Given the description of an element on the screen output the (x, y) to click on. 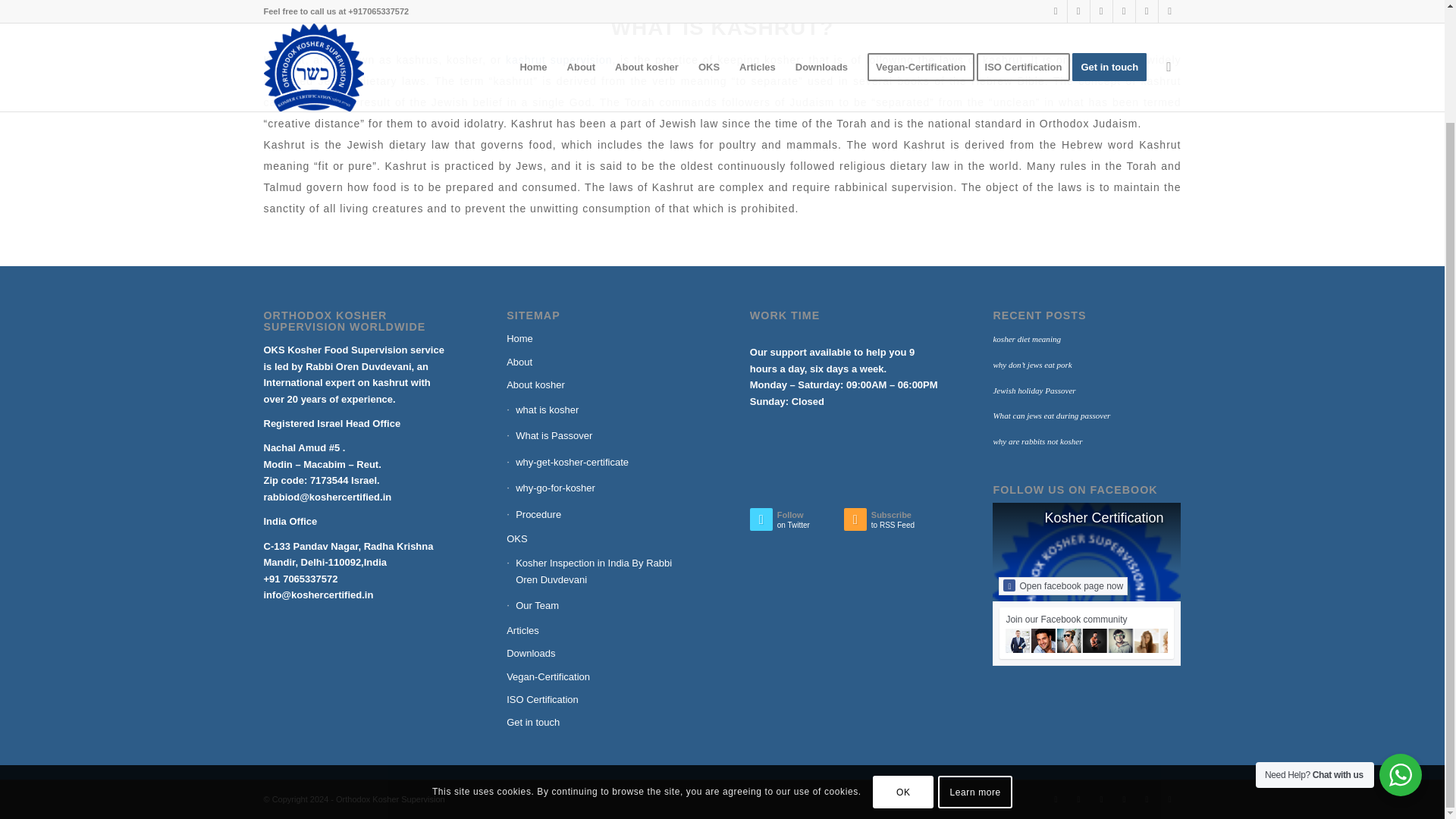
why-go-for-kosher (600, 488)
what is kosher (600, 410)
Kashrut (284, 60)
Our Team (600, 605)
OKS (600, 538)
About (600, 362)
Twitter (1056, 798)
Home (600, 338)
kashrut supervision (558, 60)
why-get-kosher-certificate (600, 462)
